Given the description of an element on the screen output the (x, y) to click on. 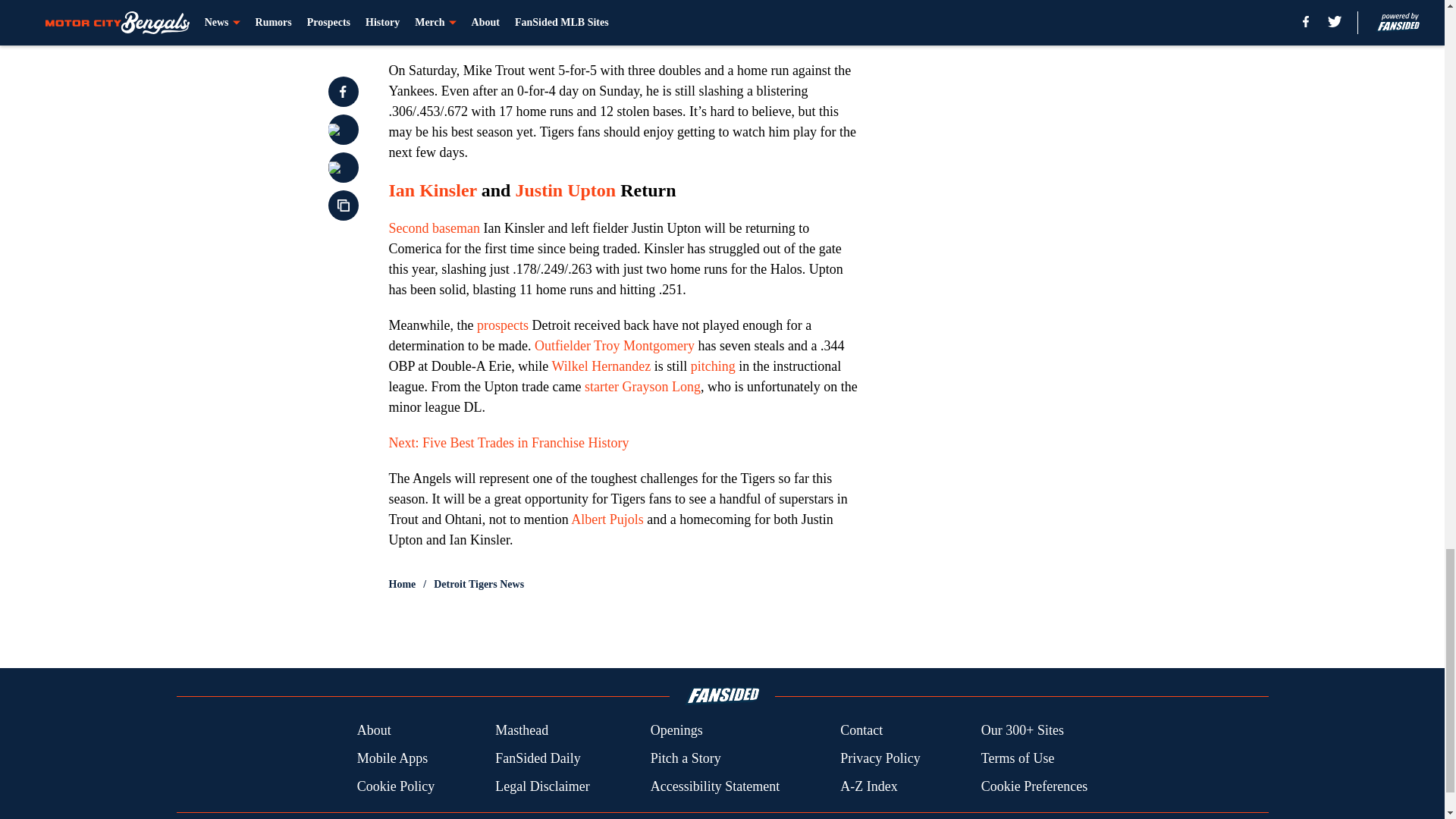
Ian Kinsler (432, 189)
Outfielder (562, 345)
Justin Upton (565, 189)
Troy Montgomery (644, 345)
prospects (502, 324)
Second baseman (433, 227)
Wilkel Hernandez (600, 365)
